Given the description of an element on the screen output the (x, y) to click on. 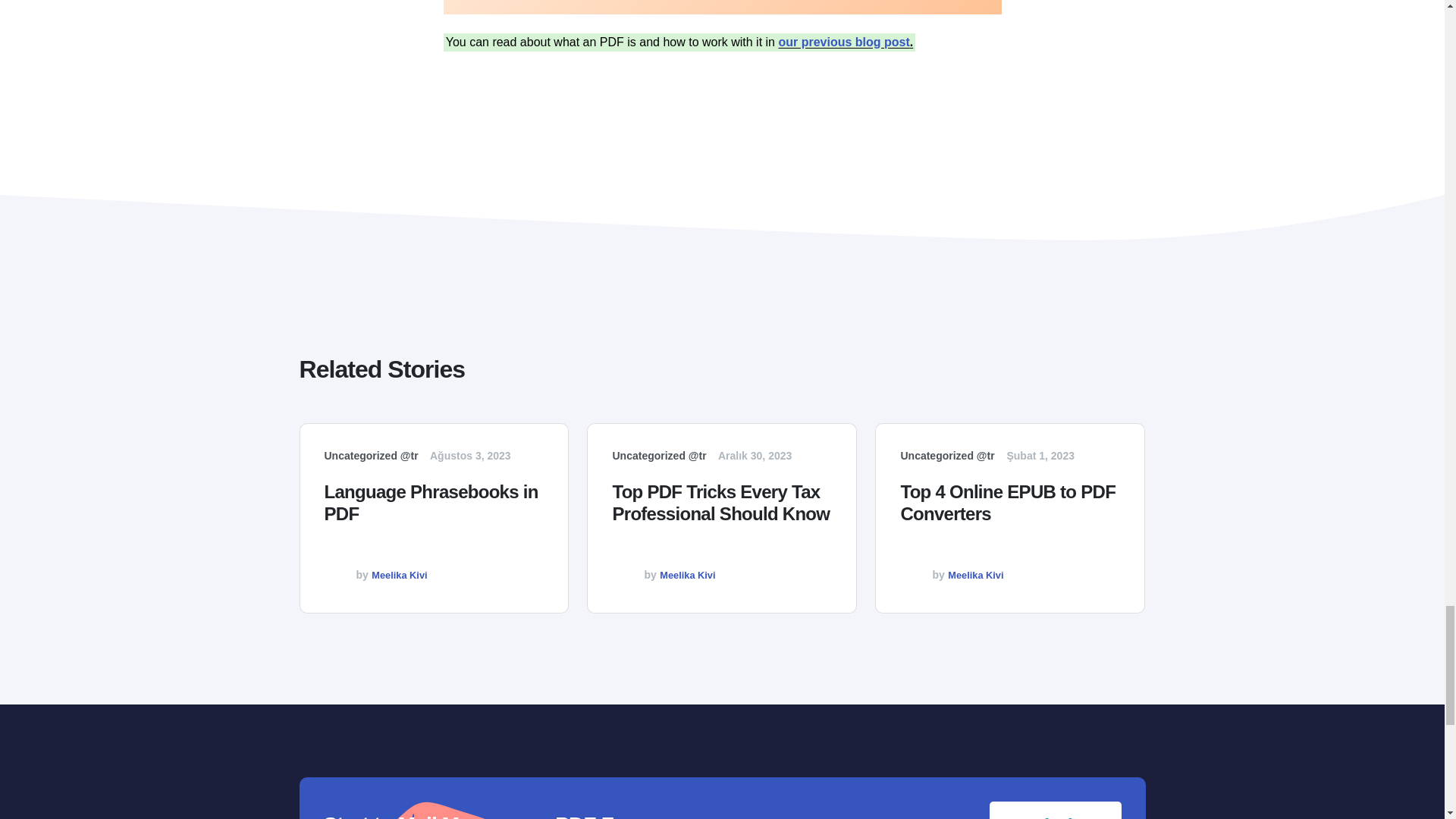
our previous blog post (842, 42)
Language Phrasebooks in PDF (434, 512)
Meelika Kivi (398, 574)
